Given the description of an element on the screen output the (x, y) to click on. 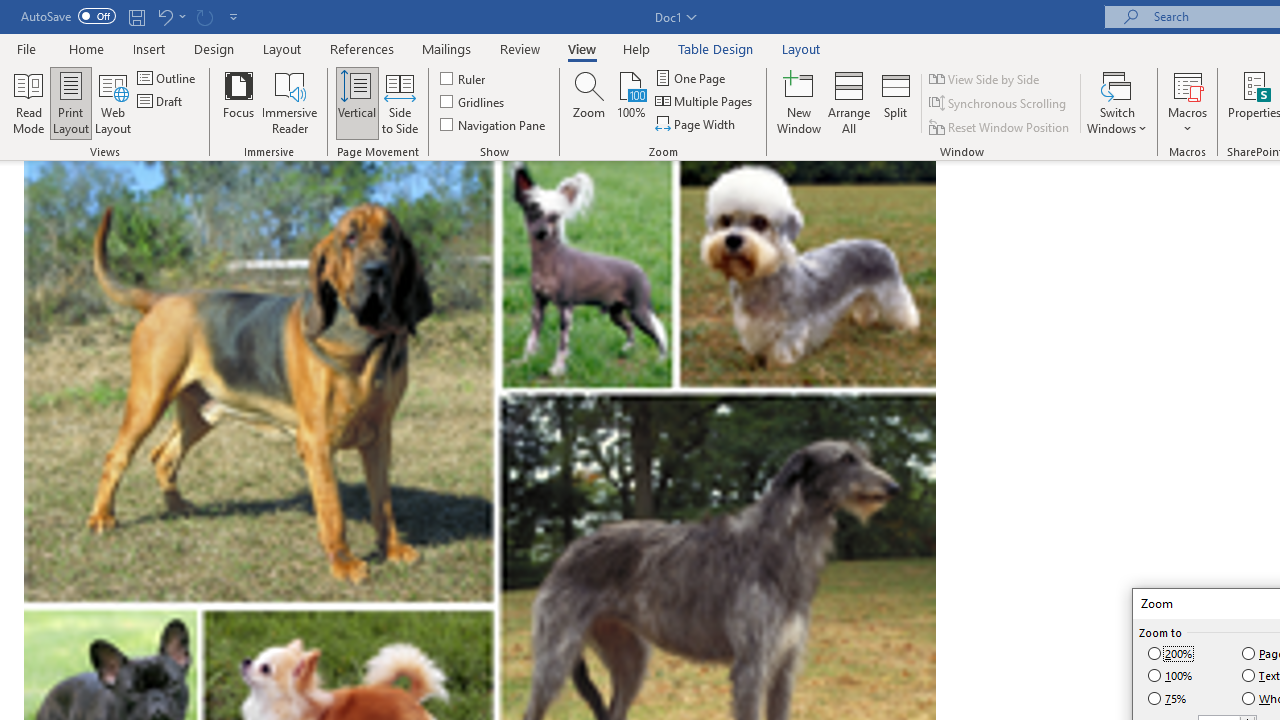
Multiple Pages (705, 101)
Arrange All (848, 102)
Vertical (356, 102)
Split (895, 102)
Outline (168, 78)
View Macros (1187, 84)
Page Width (696, 124)
